Given the description of an element on the screen output the (x, y) to click on. 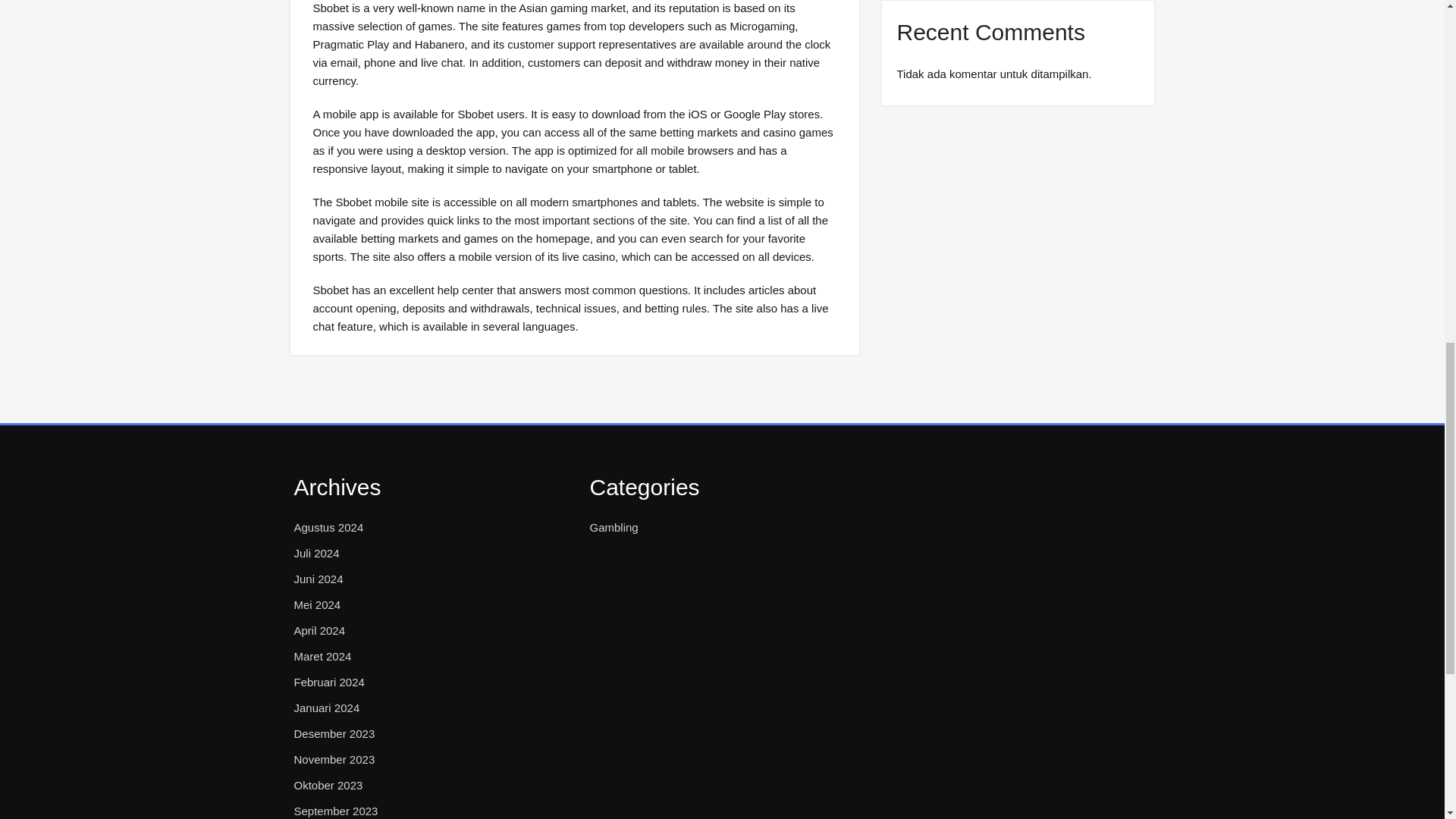
April 2024 (320, 630)
Mei 2024 (317, 605)
Agustus 2024 (329, 527)
Juli 2024 (316, 553)
Desember 2023 (334, 733)
Maret 2024 (323, 656)
November 2023 (334, 760)
Februari 2024 (329, 682)
Oktober 2023 (328, 785)
September 2023 (336, 810)
